Given the description of an element on the screen output the (x, y) to click on. 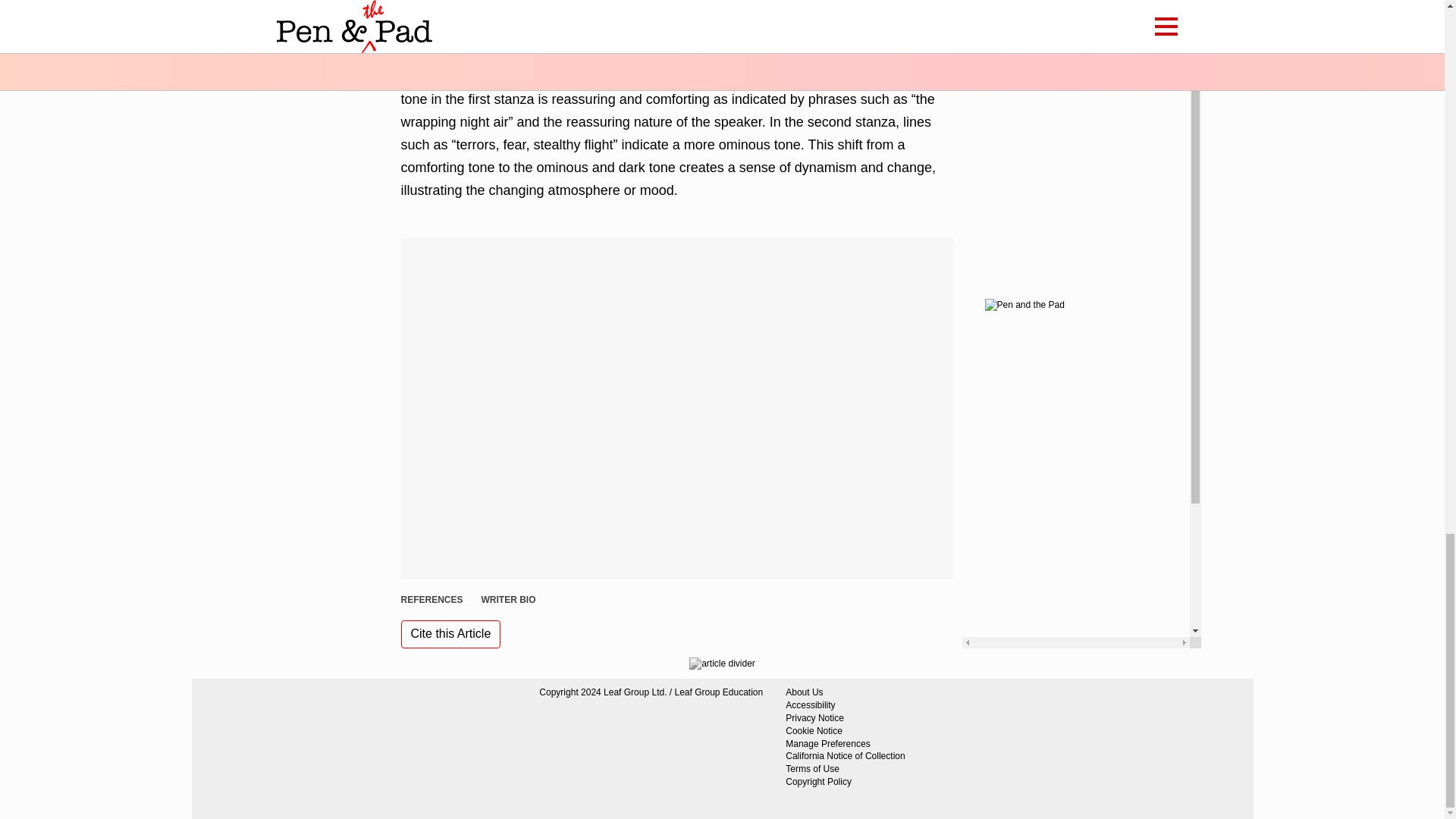
Cookie Notice (845, 730)
Terms of Use (845, 768)
Manage Preferences (845, 744)
Accessibility (845, 705)
Privacy Notice (845, 717)
California Notice of Collection (845, 756)
Copyright Policy (845, 781)
Cite this Article (450, 633)
About Us (845, 692)
